Given the description of an element on the screen output the (x, y) to click on. 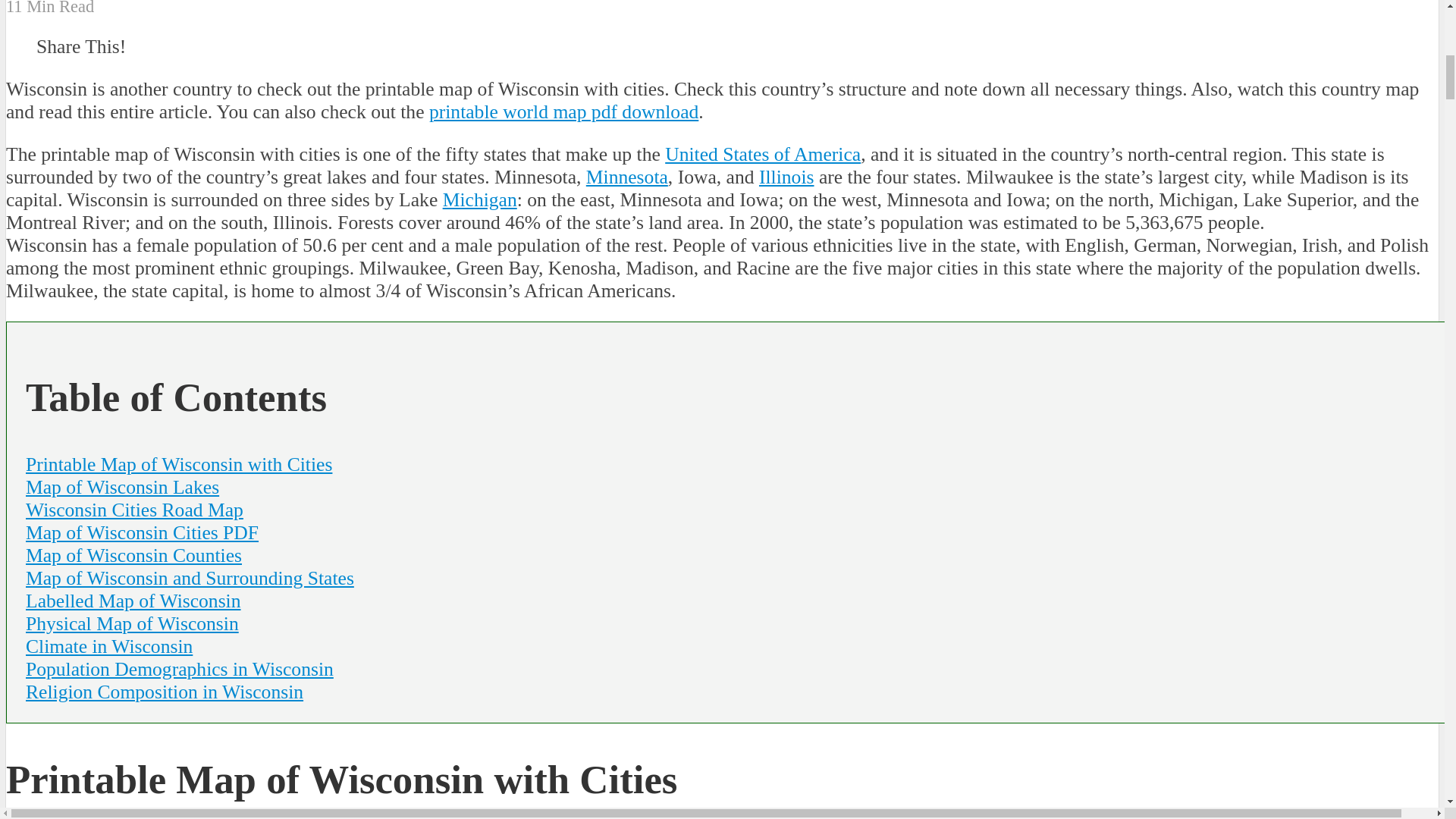
printable world map pdf download (563, 111)
United States of America (762, 154)
